Given the description of an element on the screen output the (x, y) to click on. 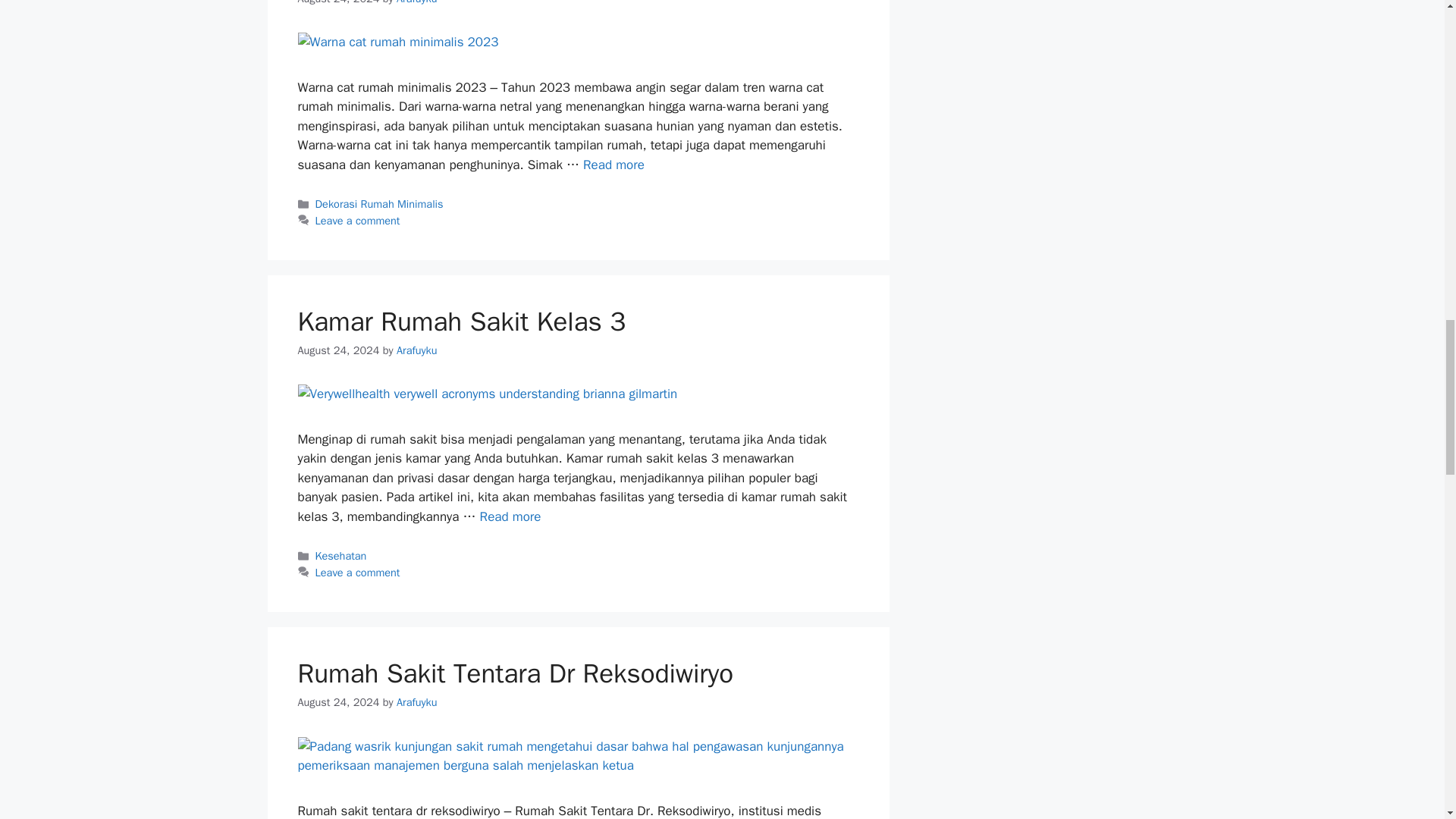
Arafuyku (417, 702)
View all posts by Arafuyku (417, 702)
Kamar Rumah Sakit Kelas 3 (461, 321)
Read more (614, 164)
Arafuyku (417, 2)
Kesehatan (340, 555)
Warna Cat Rumah Minimalis 2023 (614, 164)
Dekorasi Rumah Minimalis (379, 203)
Kamar Rumah Sakit Kelas 3 (510, 516)
View all posts by Arafuyku (417, 350)
